Given the description of an element on the screen output the (x, y) to click on. 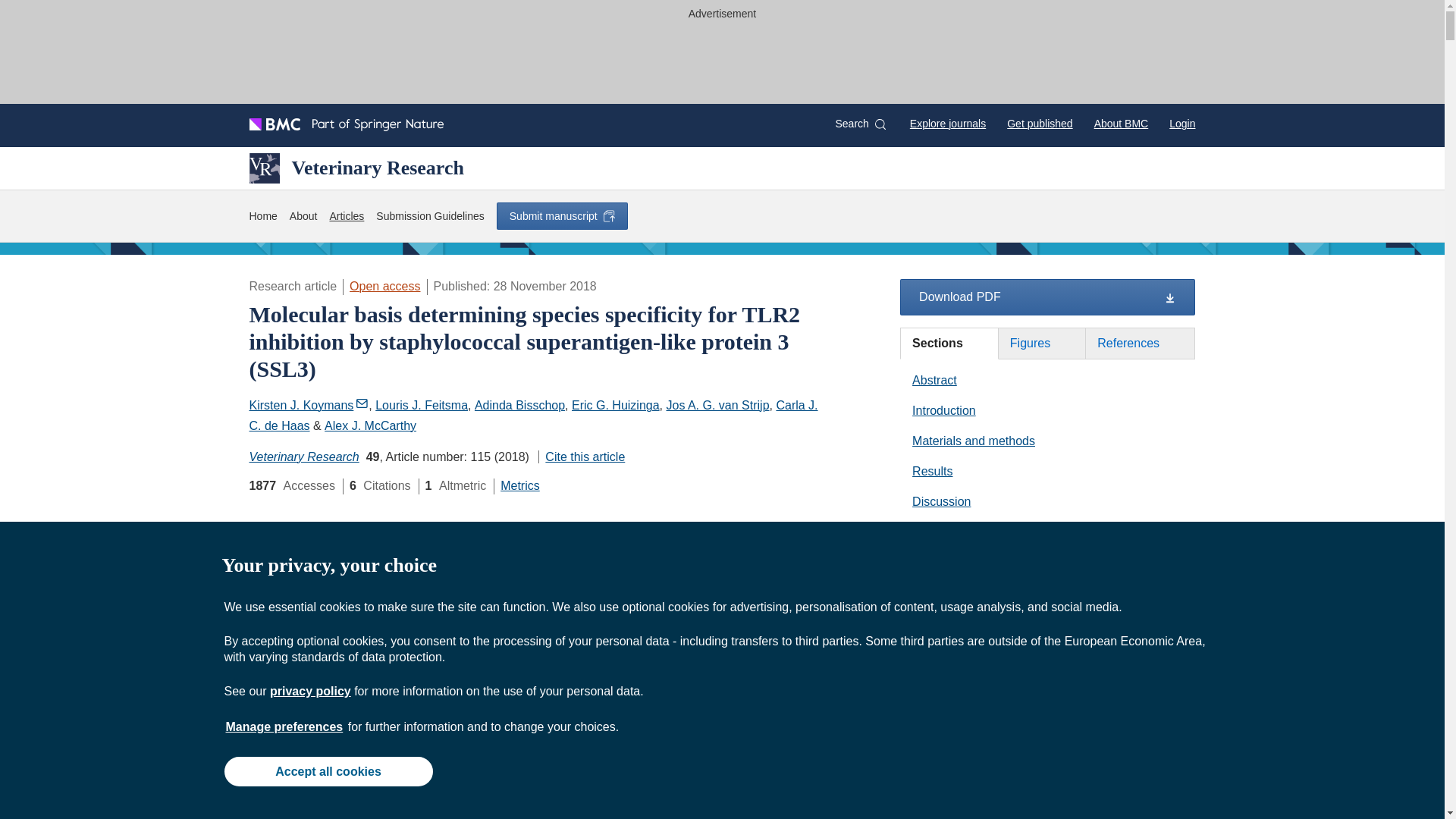
Home (262, 216)
Submission Guidelines (429, 216)
Adinda Bisschop (519, 404)
Accept all cookies (328, 771)
About (303, 216)
Login (1182, 123)
Explore journals (947, 123)
Kirsten J. Koymans (308, 404)
Submit manuscript (561, 216)
Veterinary Research (355, 168)
